Given the description of an element on the screen output the (x, y) to click on. 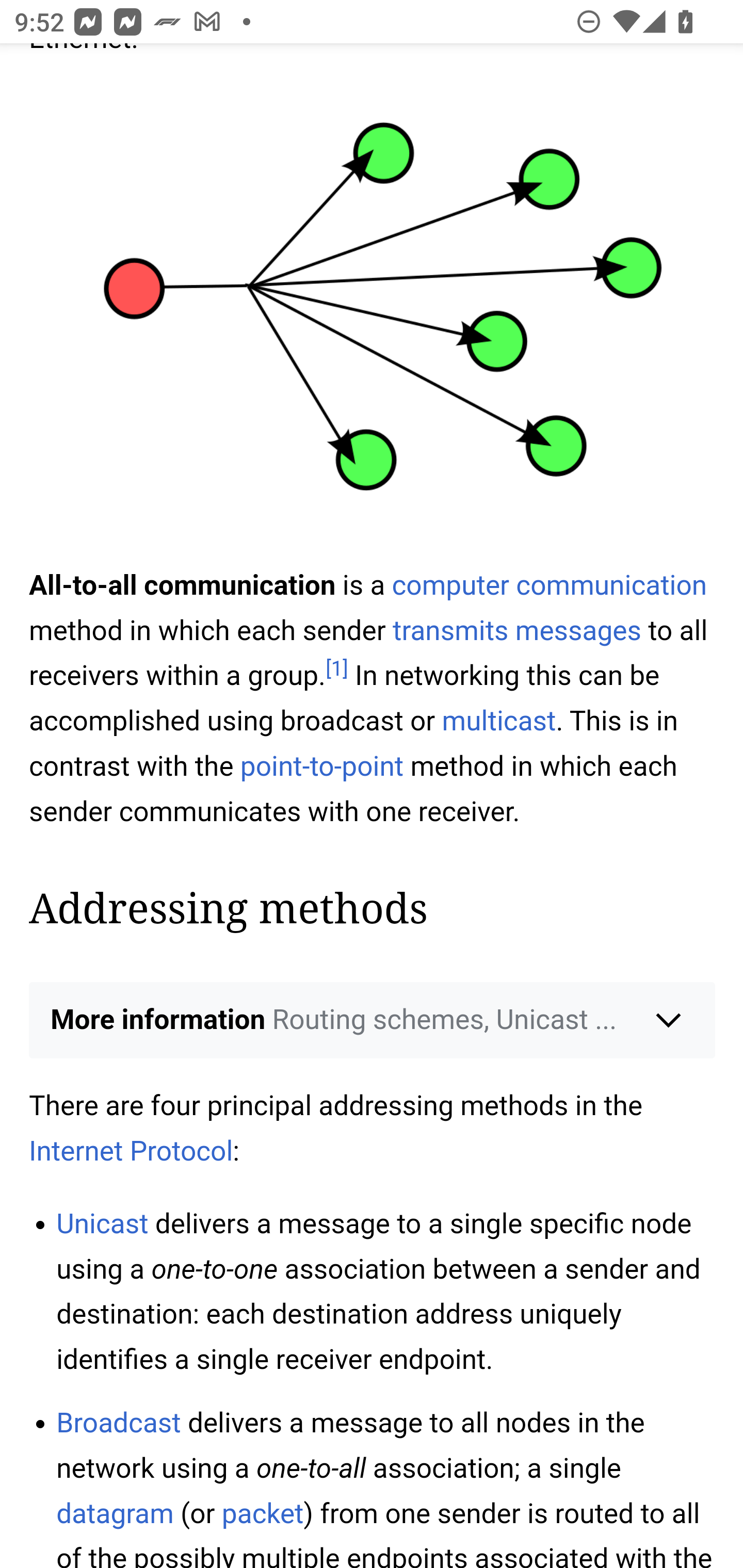
Expand table (372, 552)
960px-Broadcast.svg (372, 319)
computer communication (549, 585)
transmits messages (516, 630)
[] [ 1 ] (336, 669)
multicast (498, 722)
point-to-point (321, 768)
Internet Protocol (131, 1152)
Unicast (102, 1224)
Broadcast (118, 1423)
datagram (114, 1515)
packet (262, 1515)
